Given the description of an element on the screen output the (x, y) to click on. 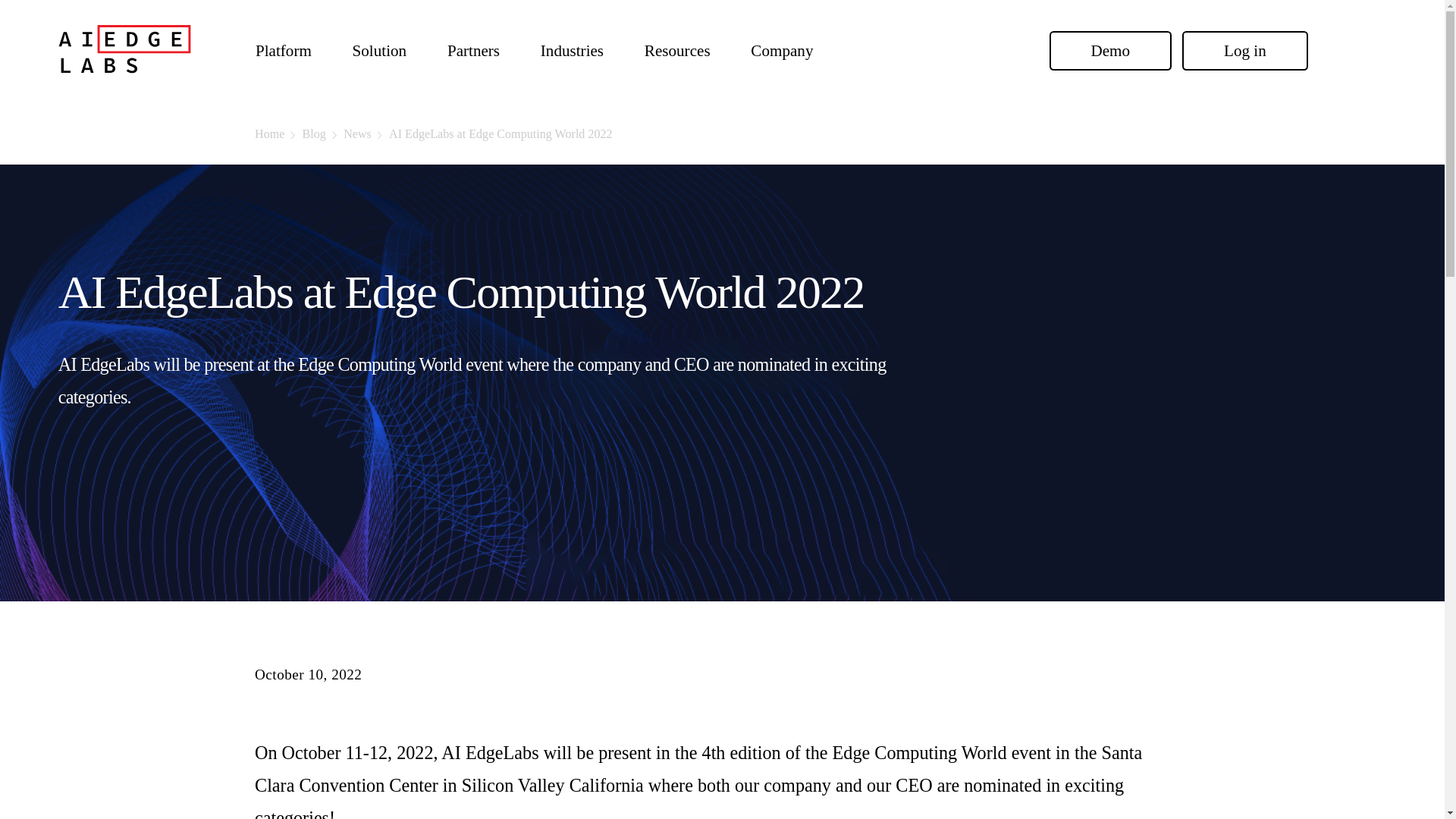
News (365, 133)
Page Solution (378, 51)
Industries (571, 51)
Blog (322, 133)
Solution (378, 51)
Platform (282, 51)
Page Partners (472, 51)
Page Home (125, 94)
Demo (1110, 50)
Home (278, 133)
Page Platform (282, 51)
Partners (472, 51)
Page Industries (571, 51)
Log in (1244, 50)
Demo (1110, 50)
